Given the description of an element on the screen output the (x, y) to click on. 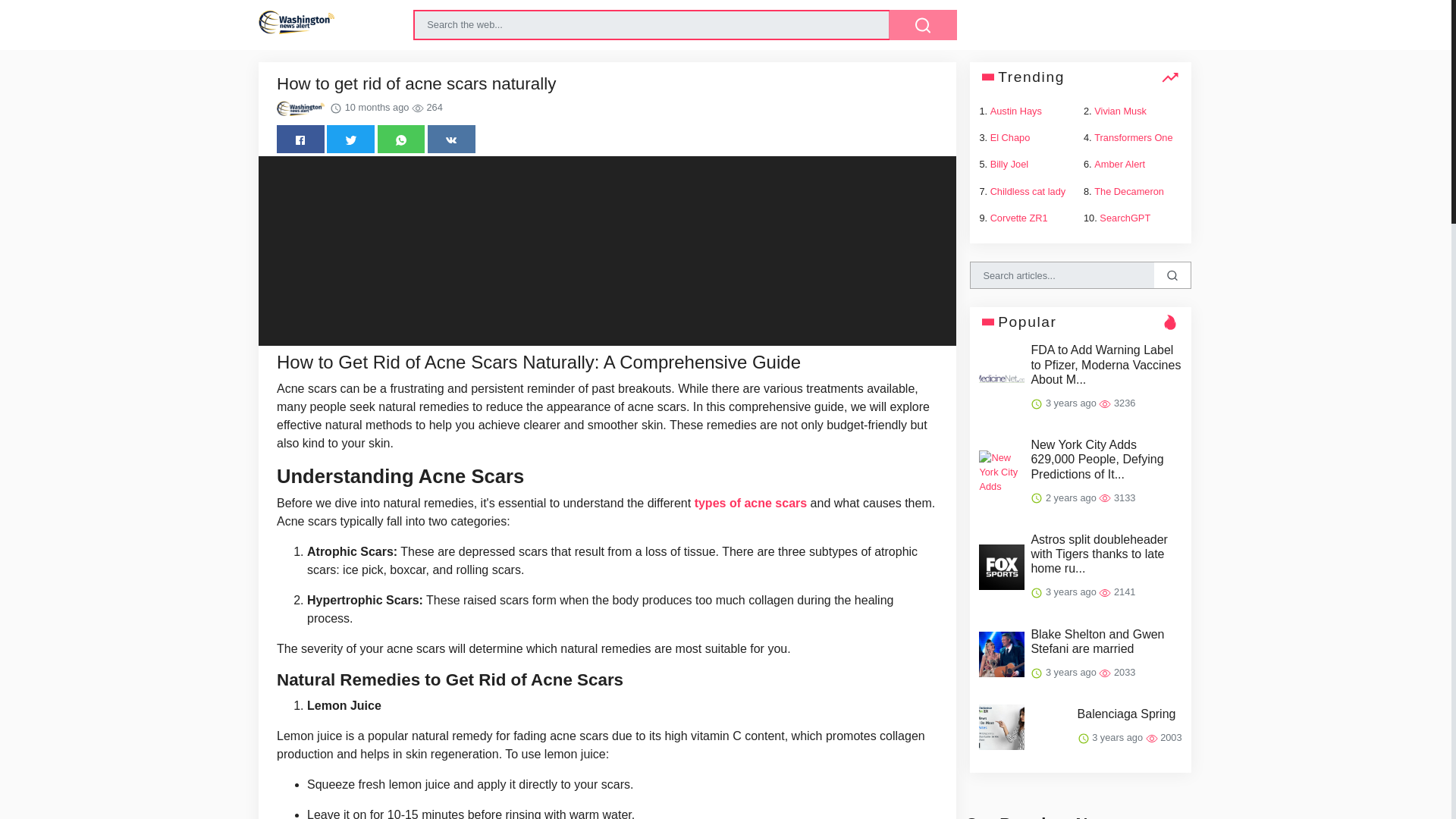
Share on Twitter (350, 139)
Austin Hays (1016, 111)
Vivian Musk (1120, 111)
Send via Whatsapp (401, 139)
Share on VK (452, 139)
Corvette ZR1 (1019, 216)
types of acne scars (751, 502)
Amber Alert (1119, 163)
Transformers One (1133, 137)
SearchGPT (1124, 216)
Childless cat lady (1027, 190)
El Chapo (1010, 137)
Billy Joel (1009, 163)
The Decameron (1128, 190)
